Given the description of an element on the screen output the (x, y) to click on. 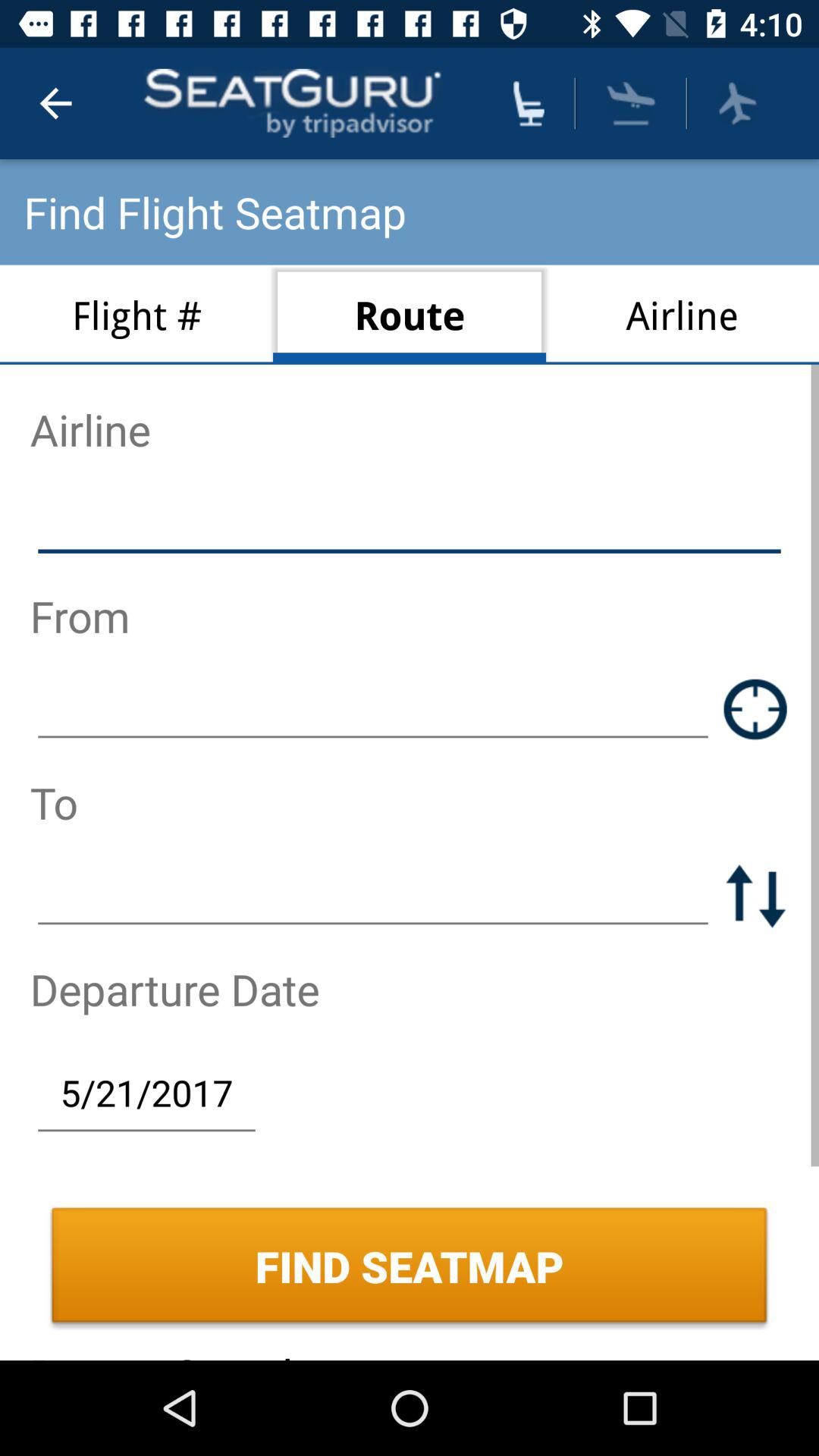
enter airline name (409, 522)
